Given the description of an element on the screen output the (x, y) to click on. 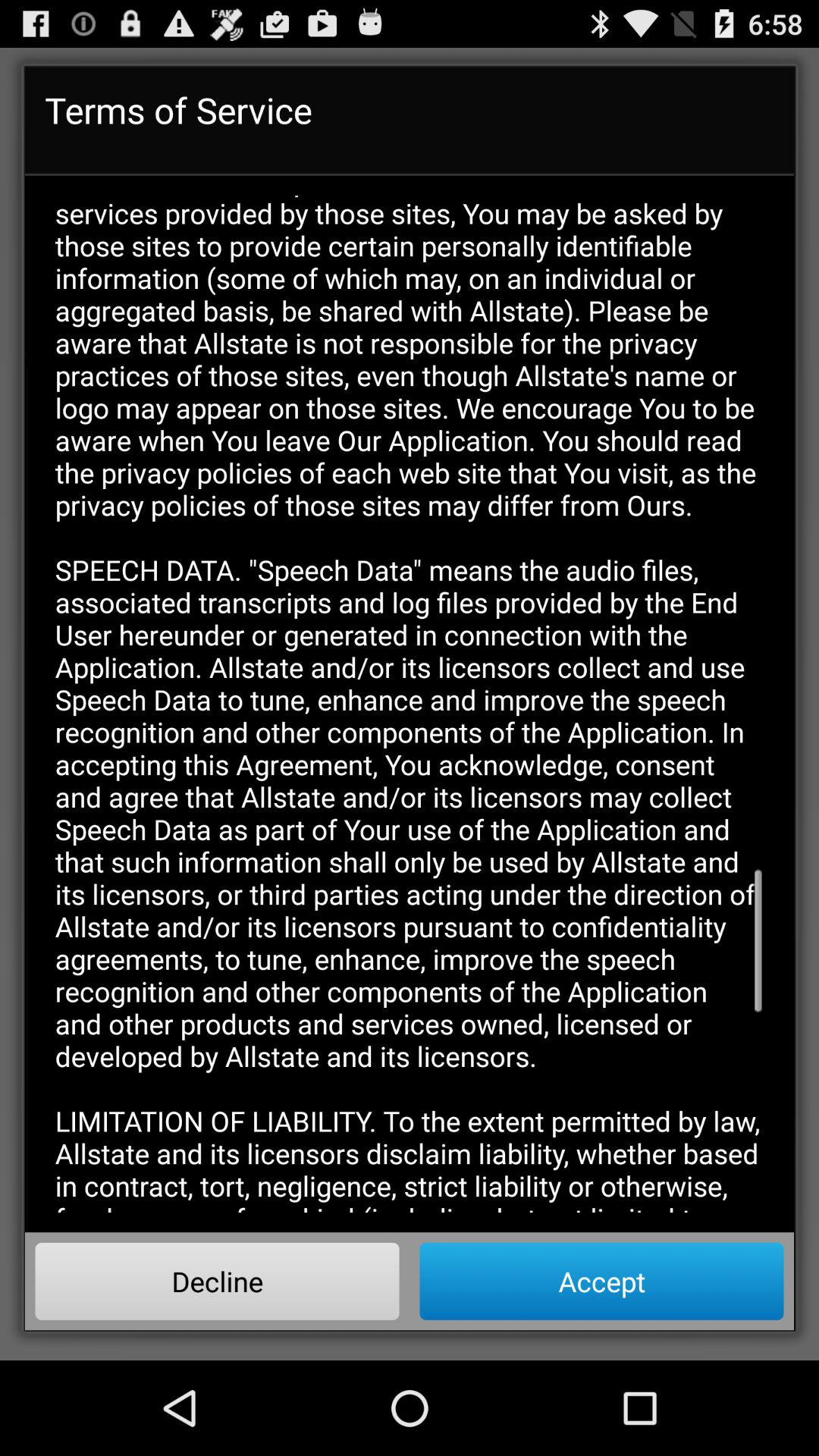
click the icon to the left of accept button (217, 1281)
